Given the description of an element on the screen output the (x, y) to click on. 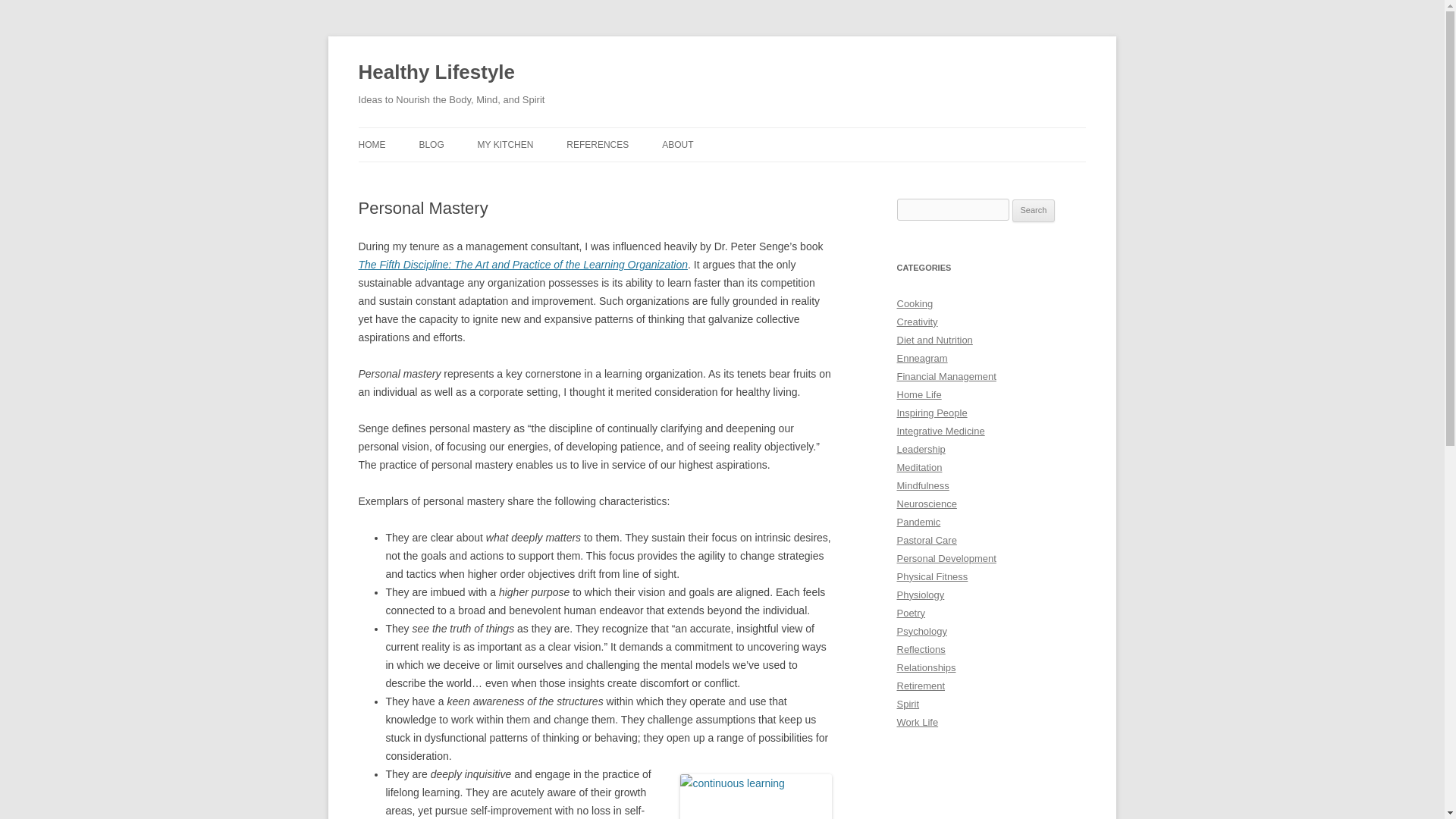
Psychology (921, 631)
Diet and Nutrition (934, 339)
MY KITCHEN (505, 144)
Retirement (920, 685)
Search (1033, 210)
Financial Management (945, 376)
Home Life (918, 394)
Reflections (920, 649)
Mindfulness (922, 485)
Spirit (907, 704)
Cooking (914, 303)
REFERENCES (597, 144)
Poetry (910, 613)
ABOUT (677, 144)
